Given the description of an element on the screen output the (x, y) to click on. 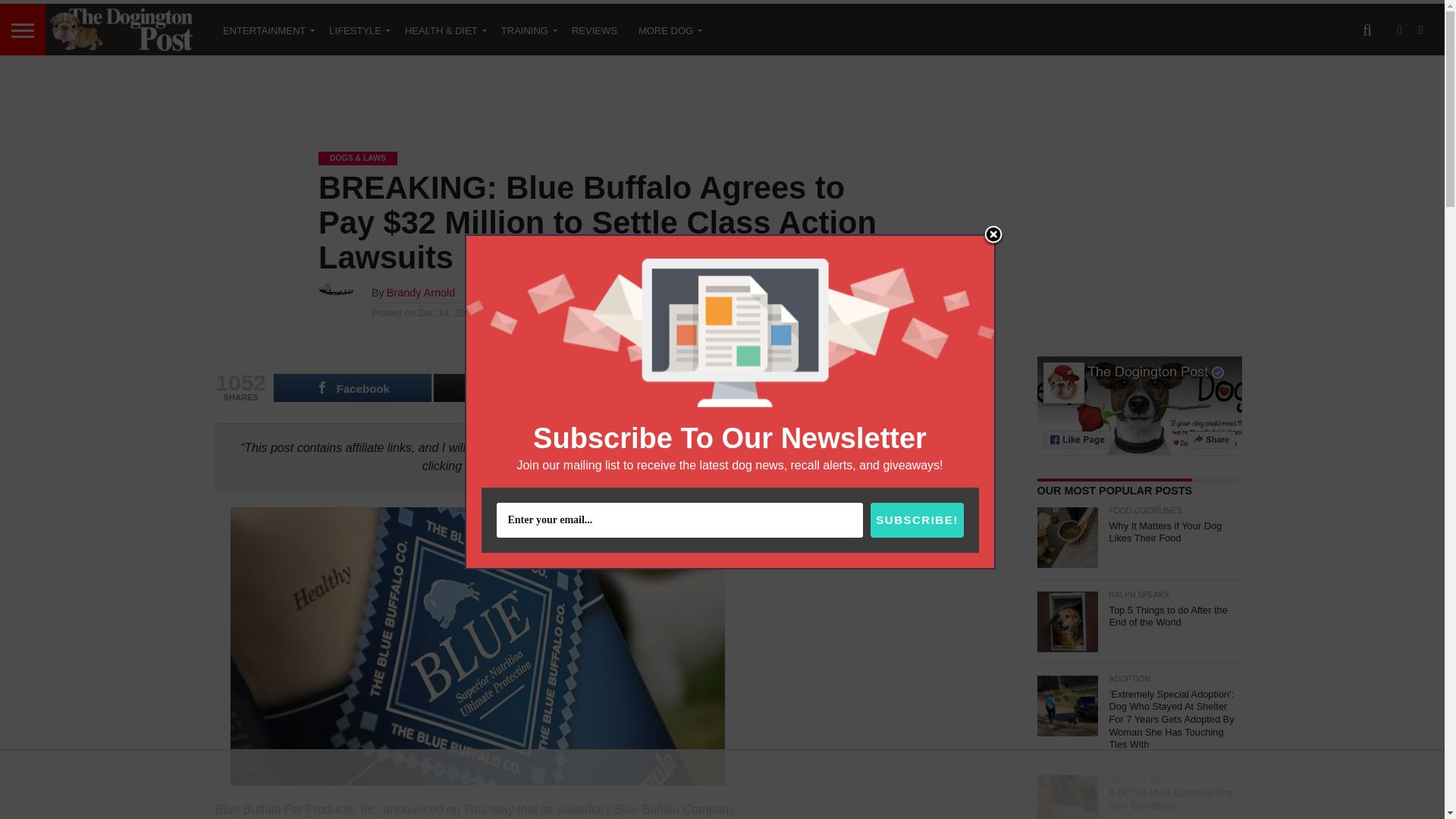
SUBSCRIBE! (916, 519)
Posts by Brandy Arnold (420, 292)
